Given the description of an element on the screen output the (x, y) to click on. 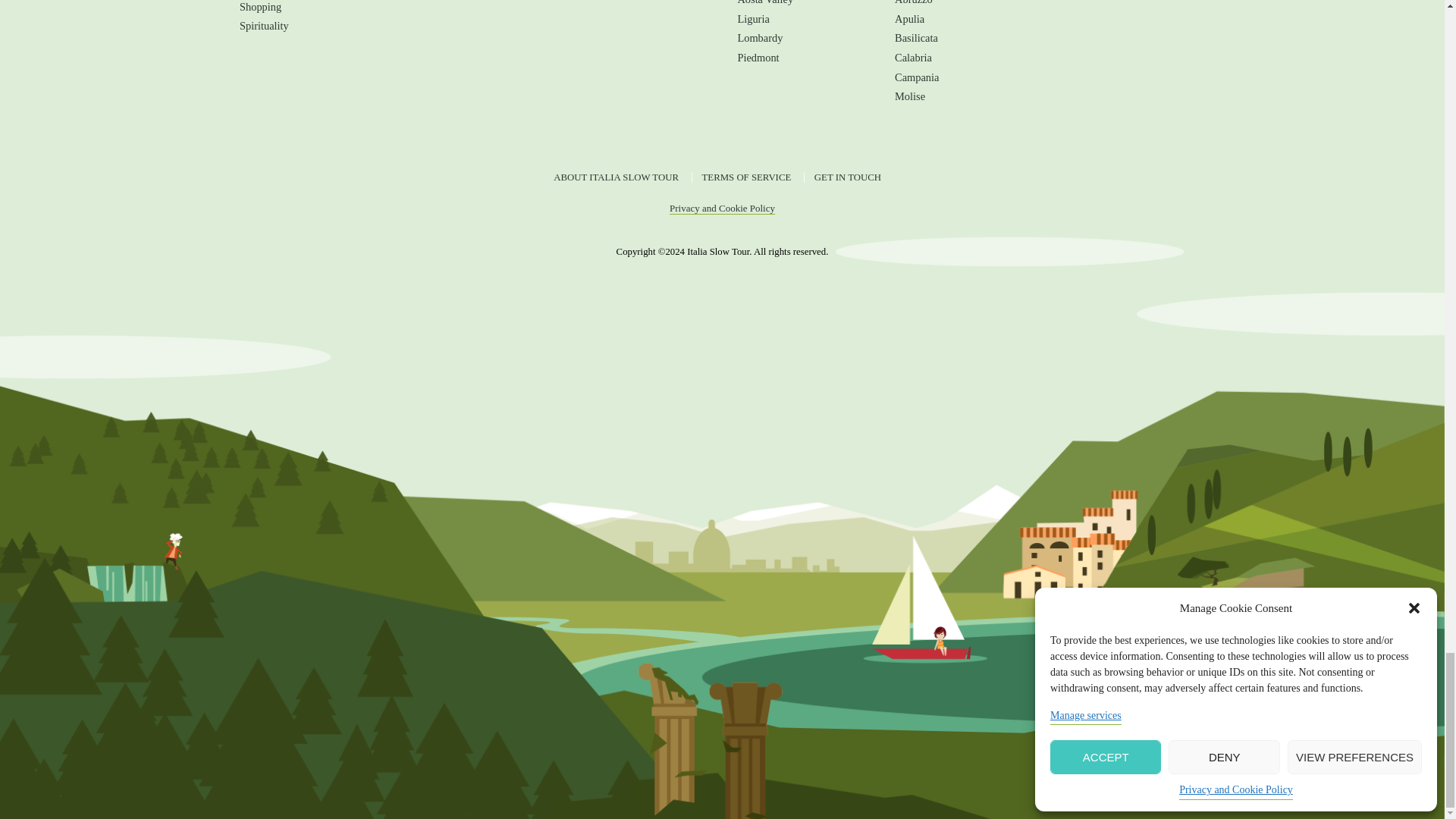
VIEW PREFERENCES (1354, 756)
Manage services (1085, 715)
Privacy and Cookie Policy (1235, 790)
ACCEPT (1104, 756)
DENY (1224, 756)
